Given the description of an element on the screen output the (x, y) to click on. 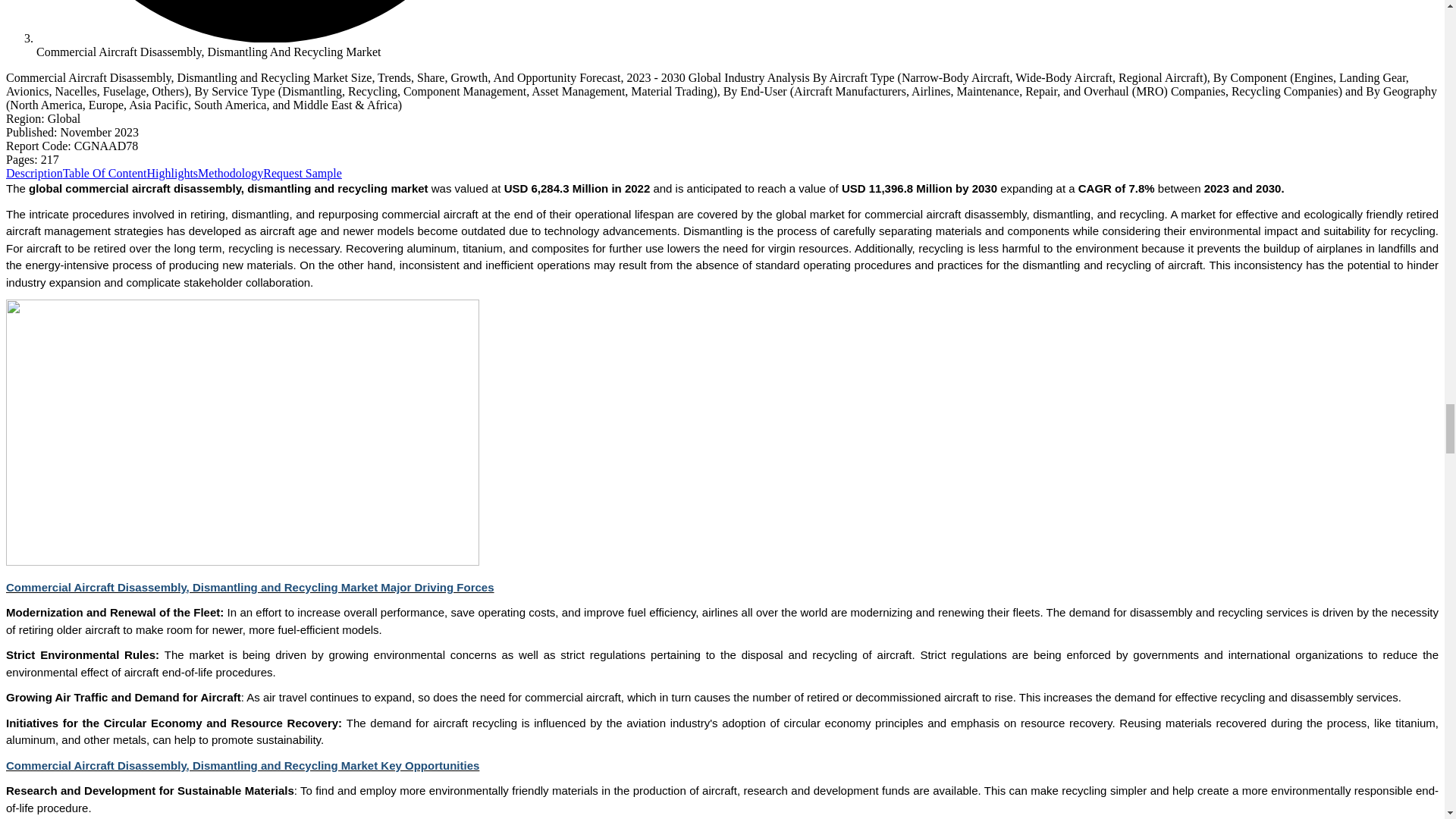
Request Sample (302, 173)
Methodology (230, 173)
Table Of Content (104, 173)
Highlights (172, 173)
Description (33, 173)
